Given the description of an element on the screen output the (x, y) to click on. 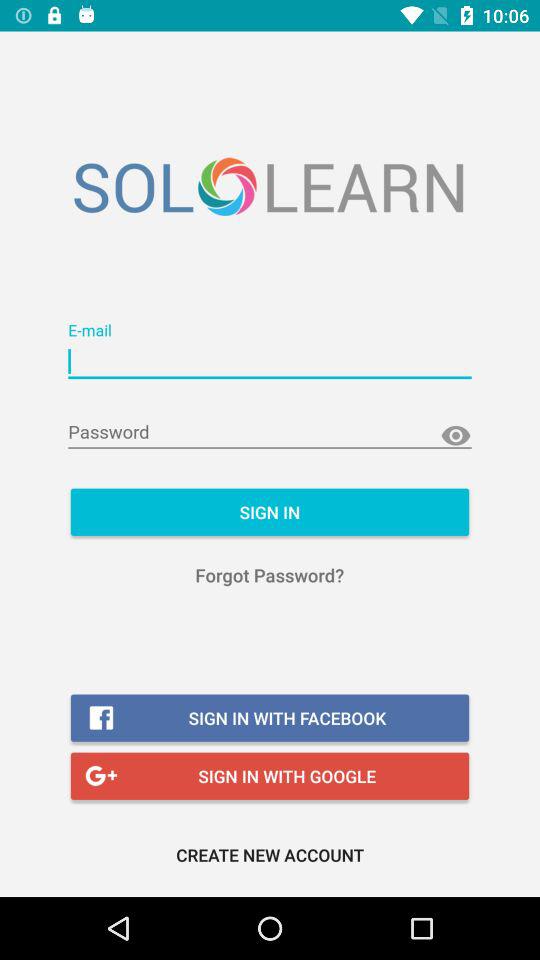
password data entry line (270, 432)
